Given the description of an element on the screen output the (x, y) to click on. 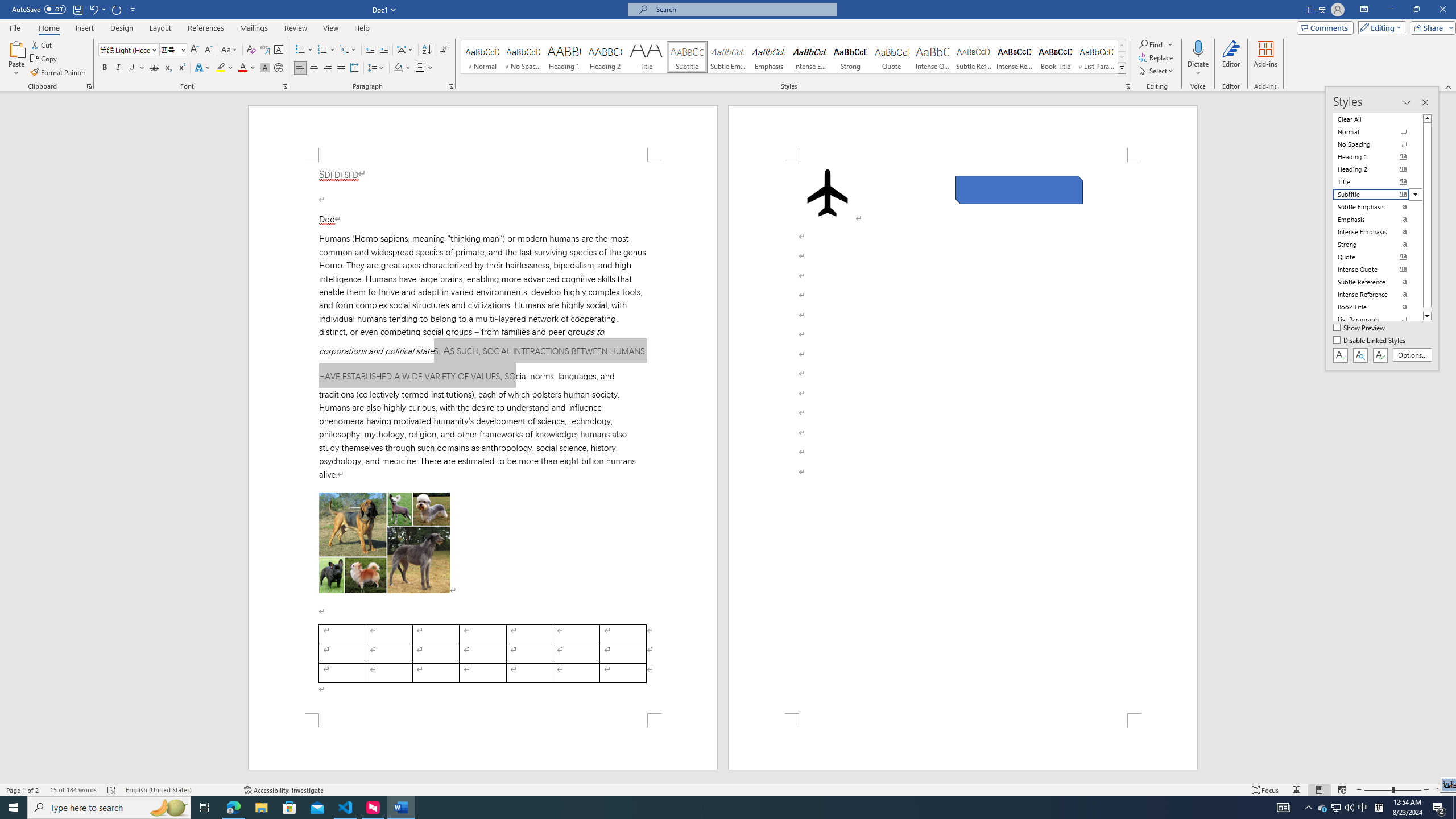
Zoom In (1426, 790)
Line and Paragraph Spacing (376, 67)
Close pane (1425, 101)
Rectangle: Diagonal Corners Snipped 2 (1019, 189)
Insert (83, 28)
Shading (402, 67)
Open (182, 49)
Enclose Characters... (278, 67)
Heading 2 (605, 56)
Paste (16, 58)
Align Right (327, 67)
Change Case (229, 49)
Layout (160, 28)
